Given the description of an element on the screen output the (x, y) to click on. 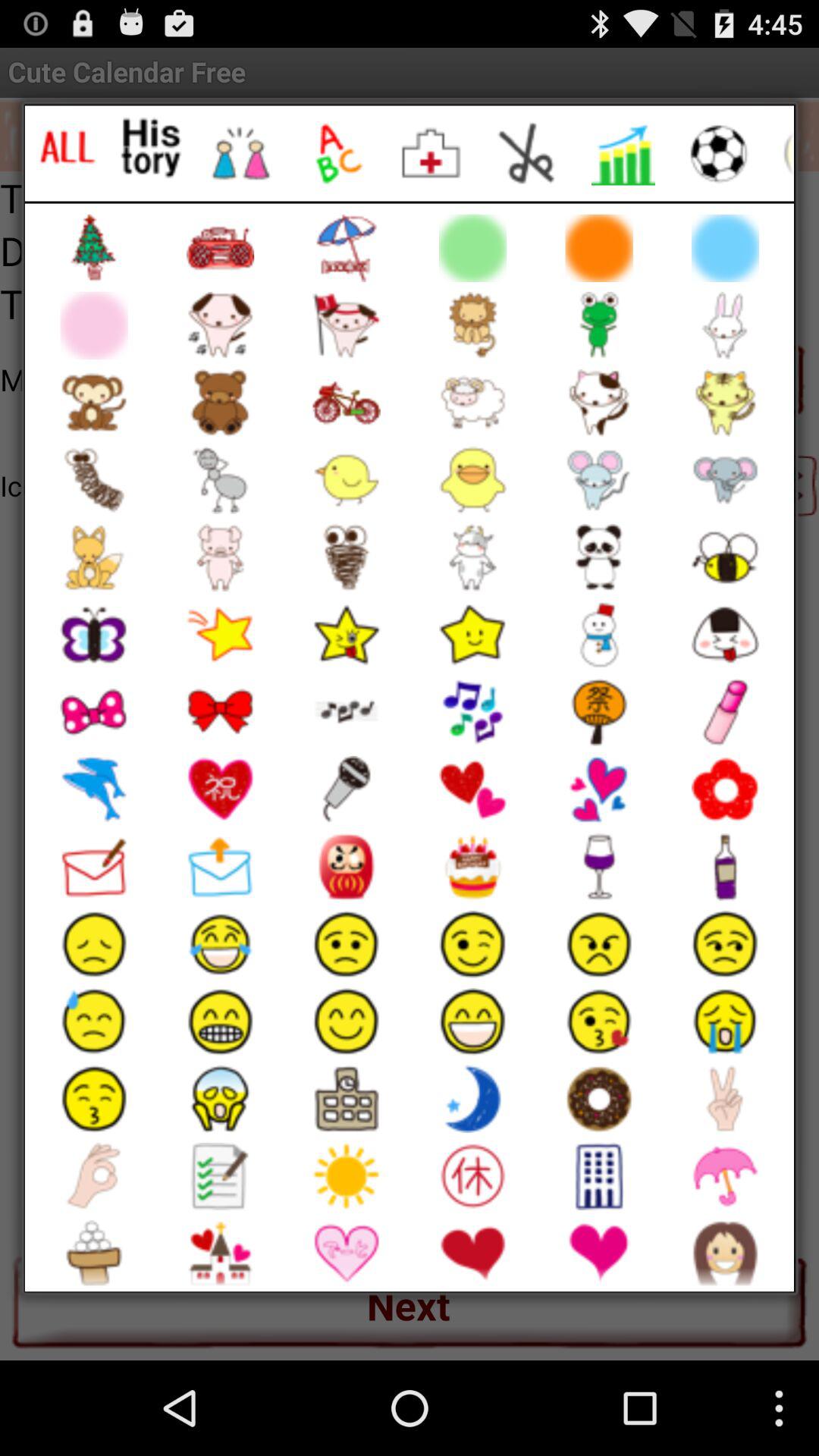
football icons (718, 153)
